Given the description of an element on the screen output the (x, y) to click on. 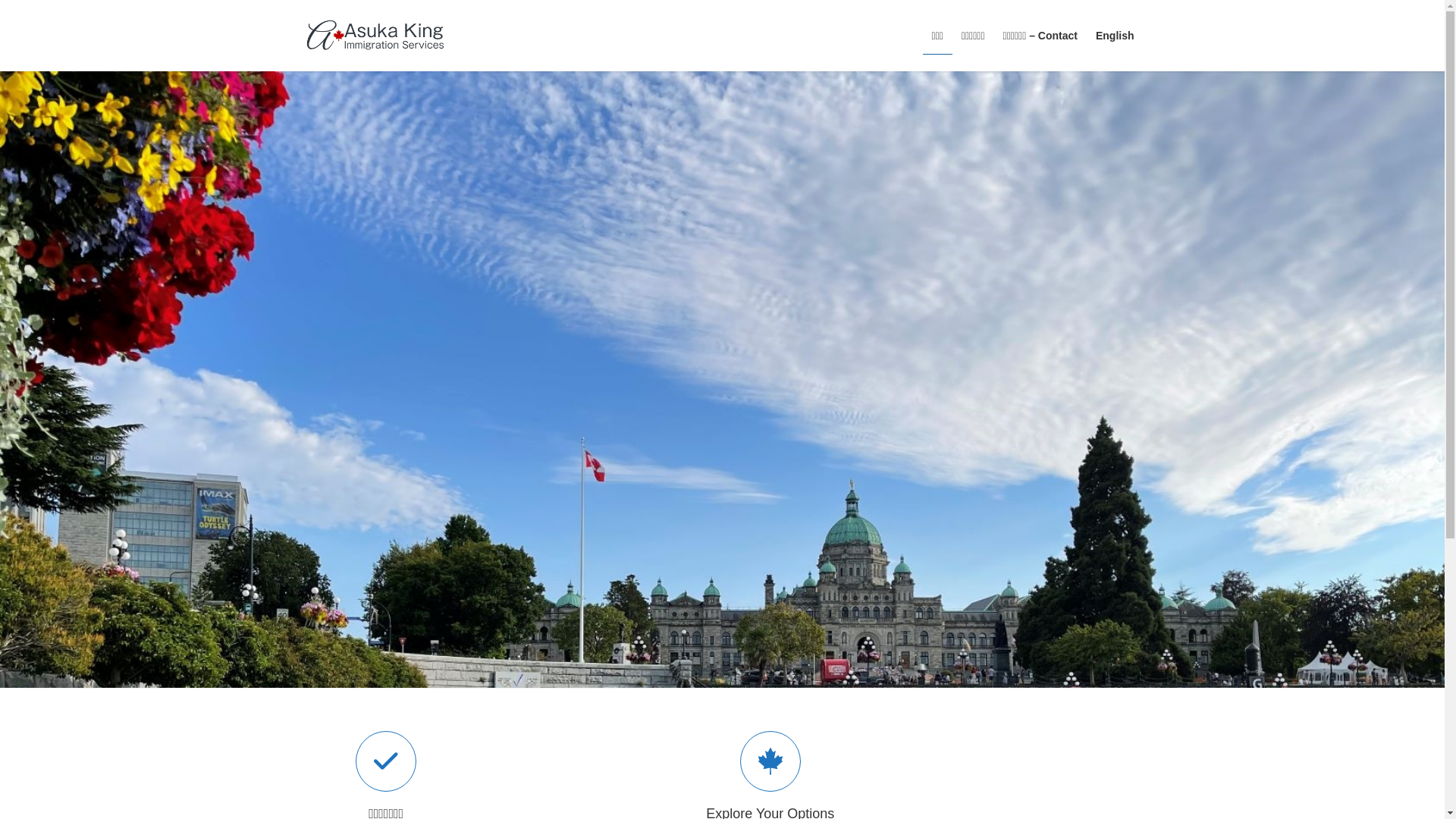
English Element type: text (1114, 36)
